Given the description of an element on the screen output the (x, y) to click on. 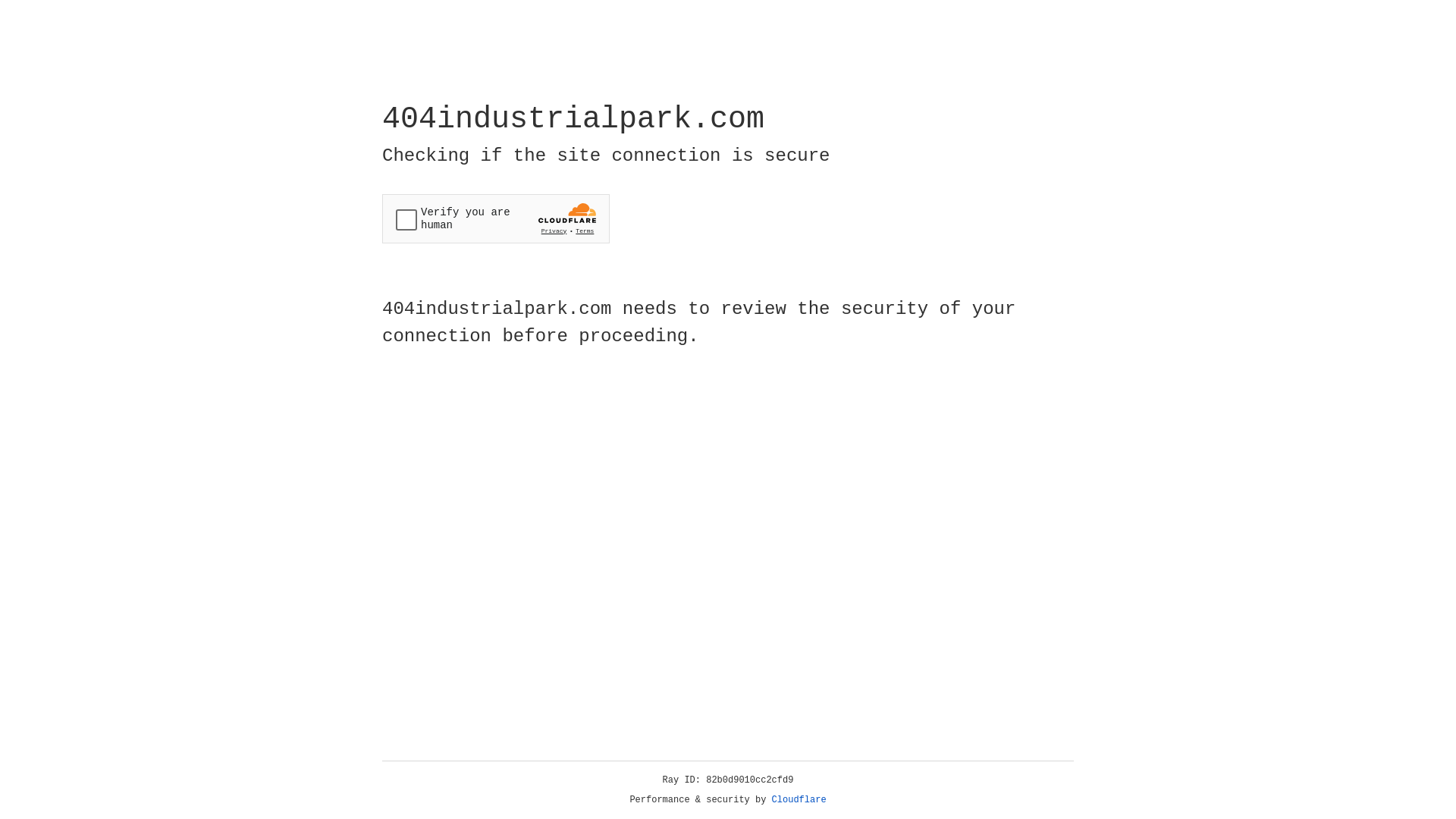
Widget containing a Cloudflare security challenge Element type: hover (495, 218)
Cloudflare Element type: text (798, 799)
